Given the description of an element on the screen output the (x, y) to click on. 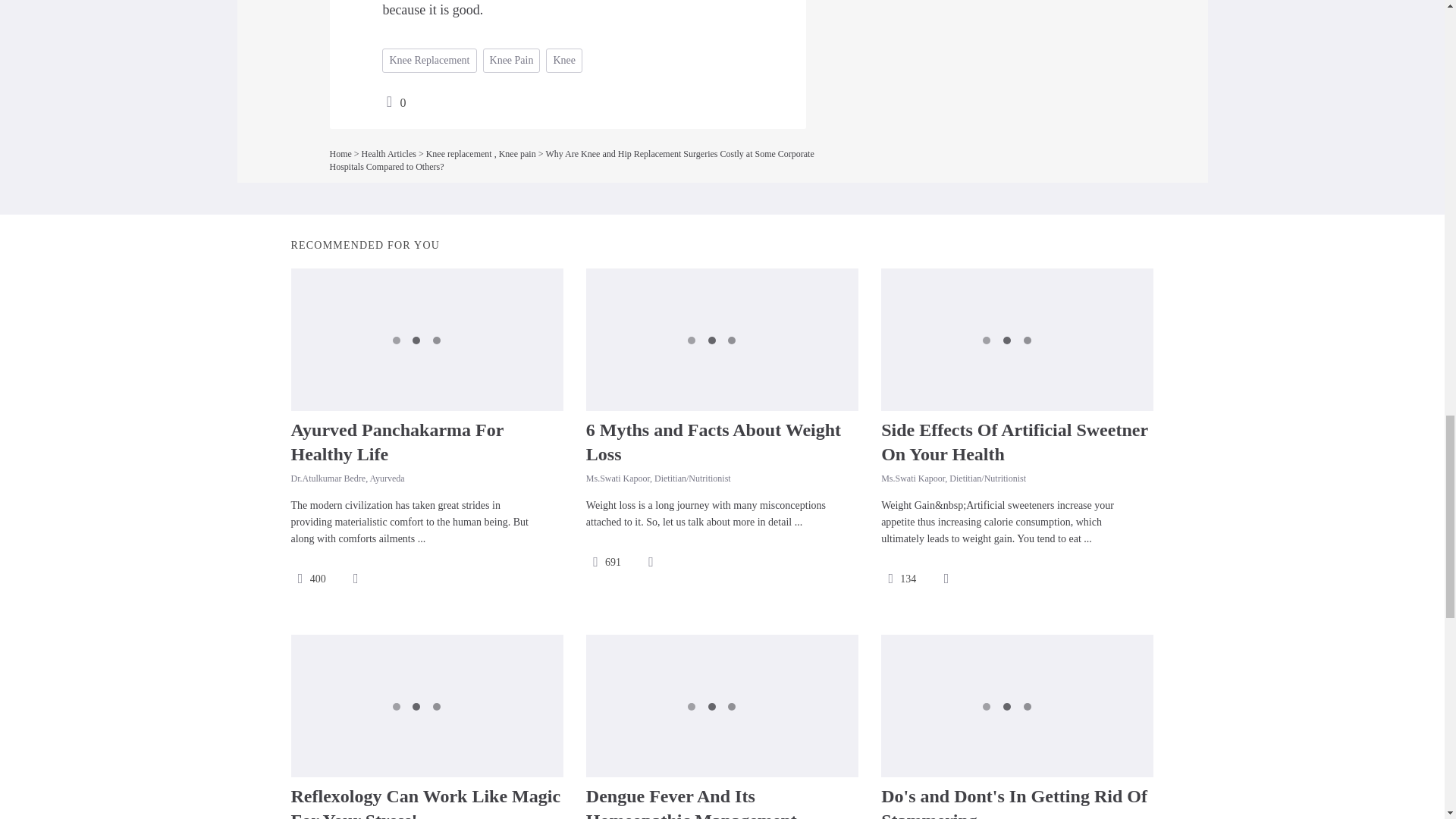
Knee replacement (459, 153)
6 Myths and Facts About Weight Loss (713, 442)
Knee pain (517, 153)
Home (339, 153)
Knee (564, 60)
Health Articles (388, 153)
Knee Pain (511, 60)
Ayurved Panchakarma For Healthy Life (397, 442)
Knee Replacement (428, 60)
